Given the description of an element on the screen output the (x, y) to click on. 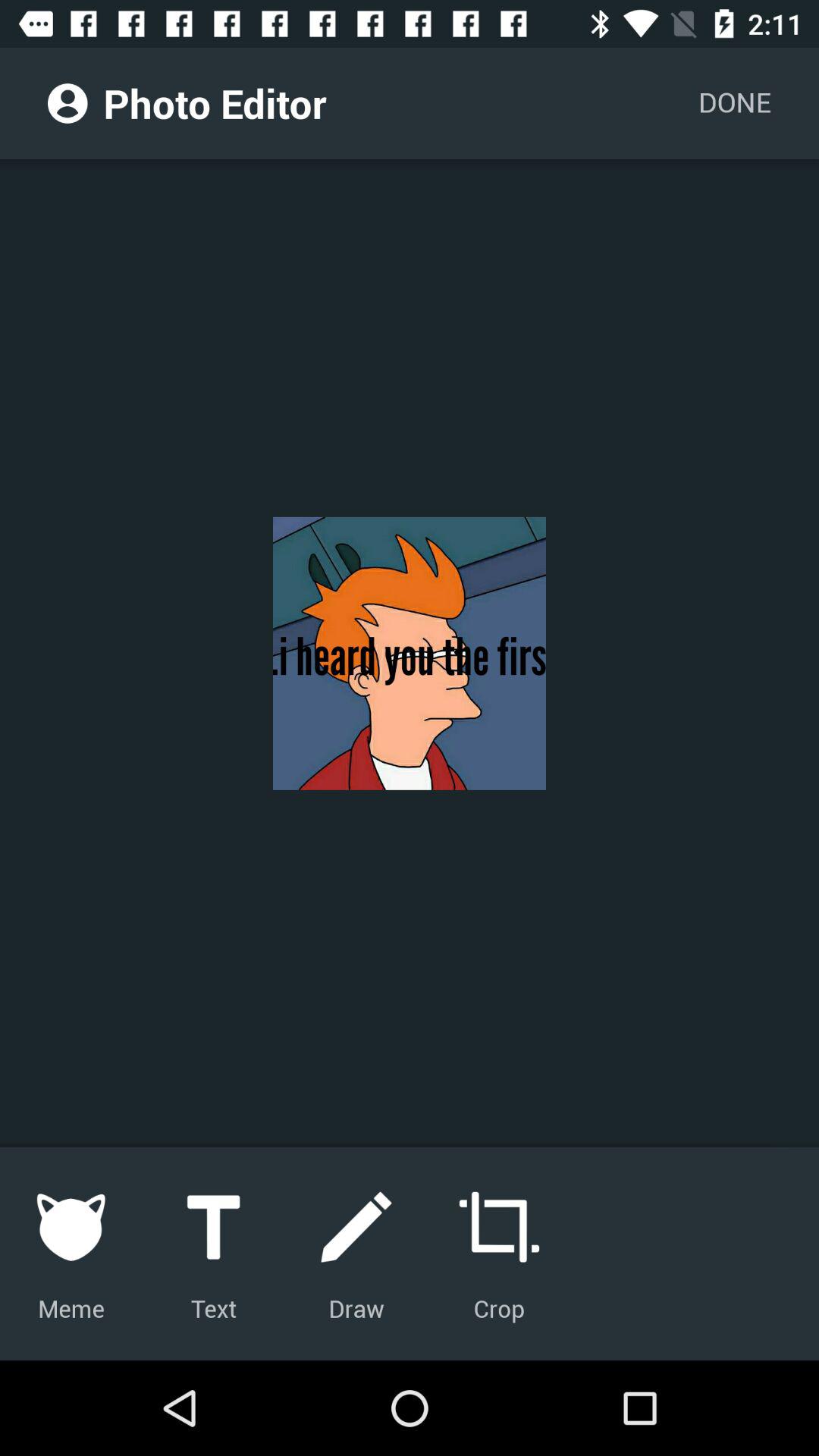
press the icon at the top right corner (734, 103)
